Given the description of an element on the screen output the (x, y) to click on. 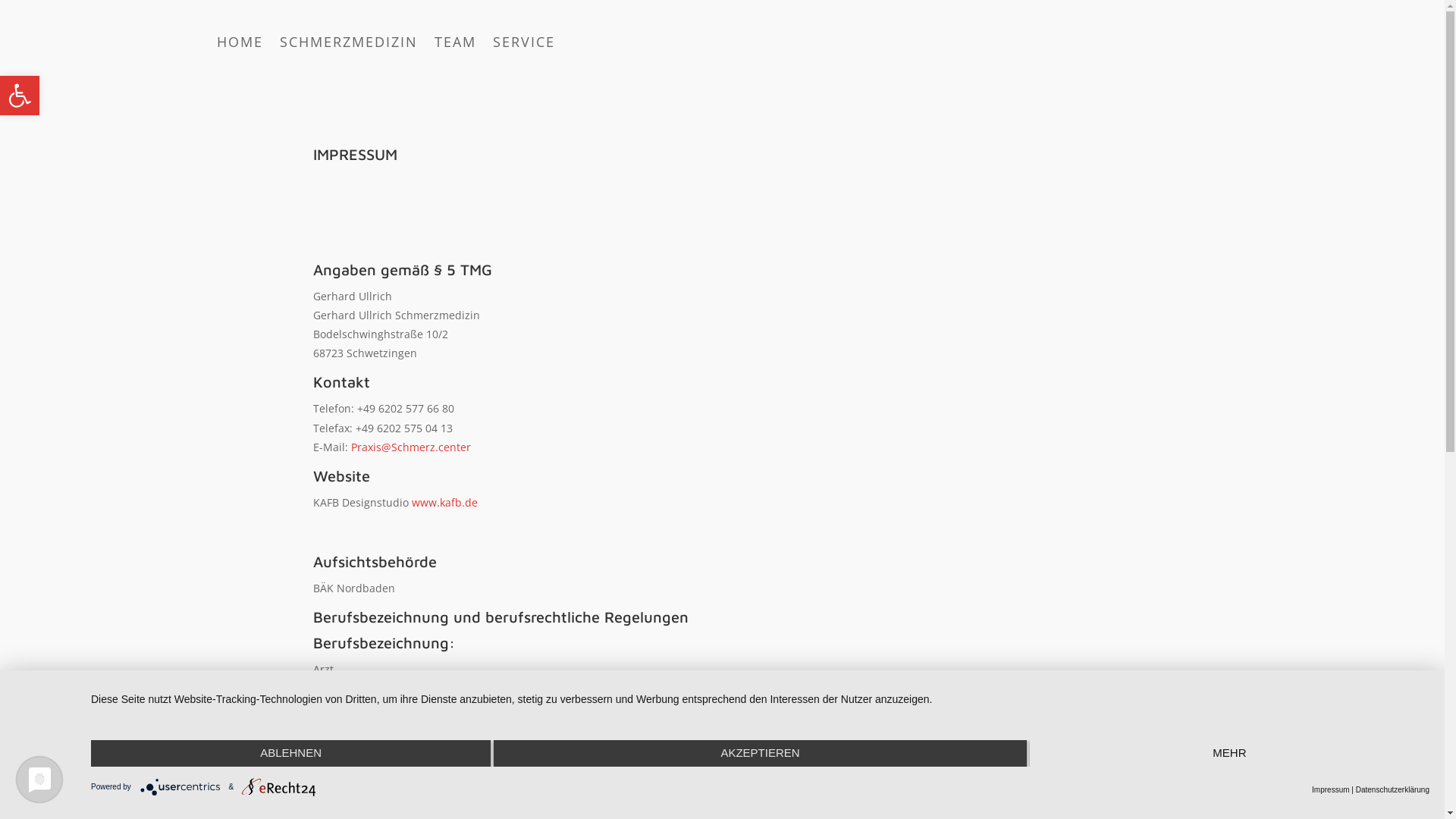
HOME Element type: text (239, 44)
www.kafb.de Element type: text (443, 502)
MEHR Element type: text (1229, 753)
SCHMERZMEDIZIN Element type: text (348, 44)
Open toolbar
Barrierefreiheit Einstellungen Element type: text (19, 95)
TEAM Element type: text (455, 44)
ABLEHNEN Element type: text (290, 753)
SERVICE Element type: text (523, 44)
www.aerztekammer-bw.de Element type: text (380, 744)
Praxis@Schmerz.center Element type: text (410, 446)
Impressum Element type: text (1330, 789)
AKZEPTIEREN Element type: text (759, 753)
